Given the description of an element on the screen output the (x, y) to click on. 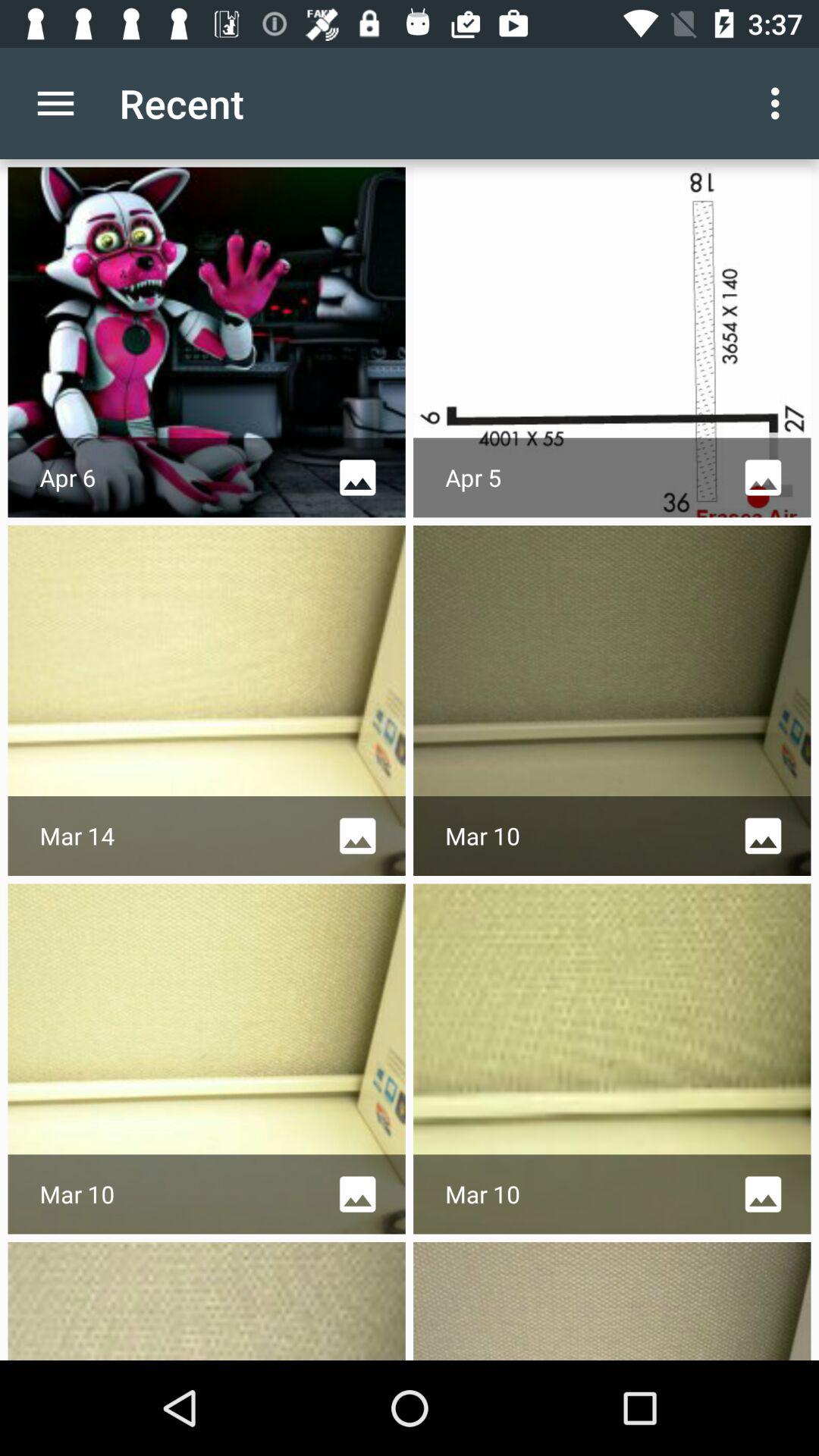
press icon next to recent app (779, 103)
